Given the description of an element on the screen output the (x, y) to click on. 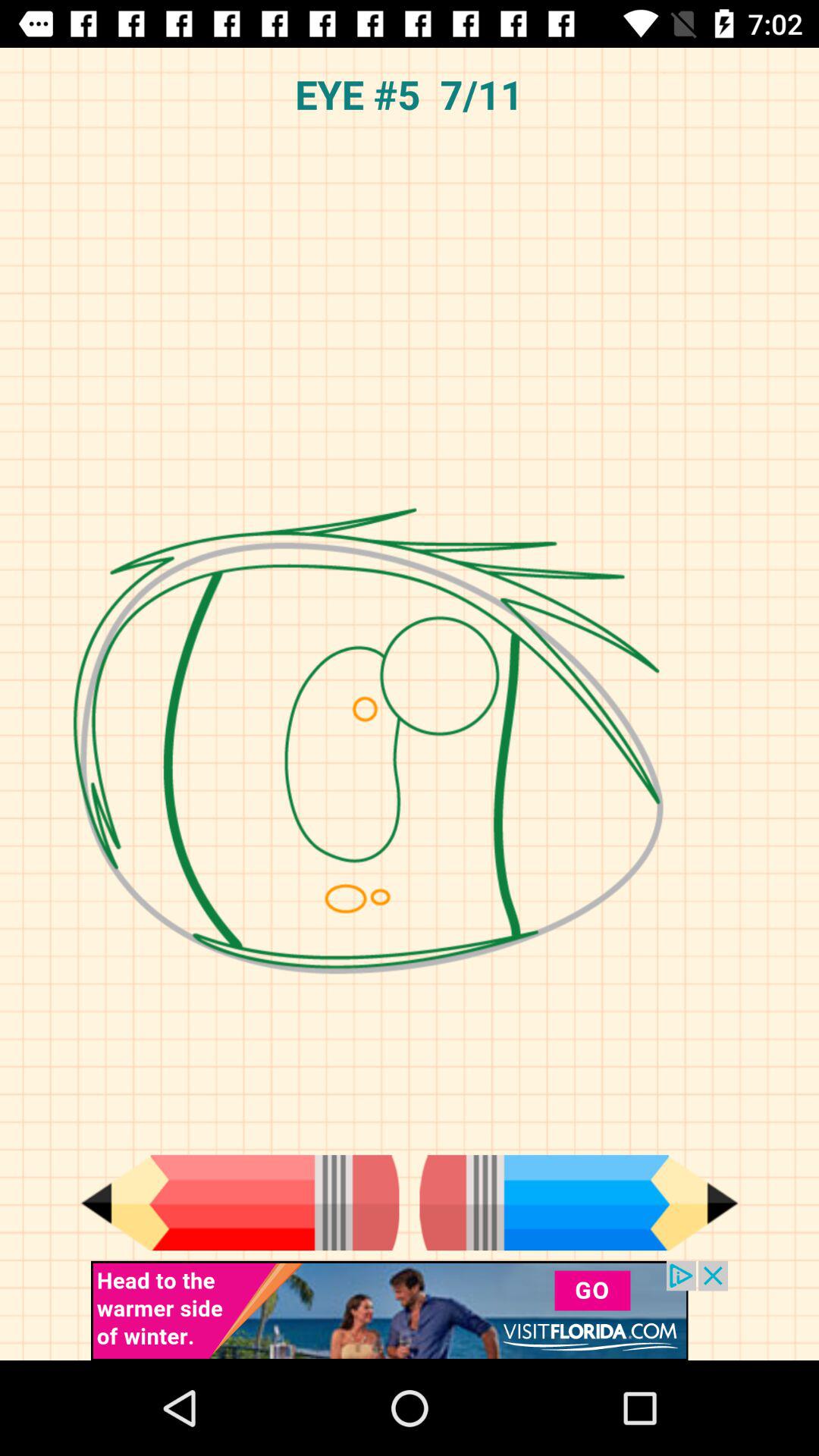
add the option (409, 1310)
